Given the description of an element on the screen output the (x, y) to click on. 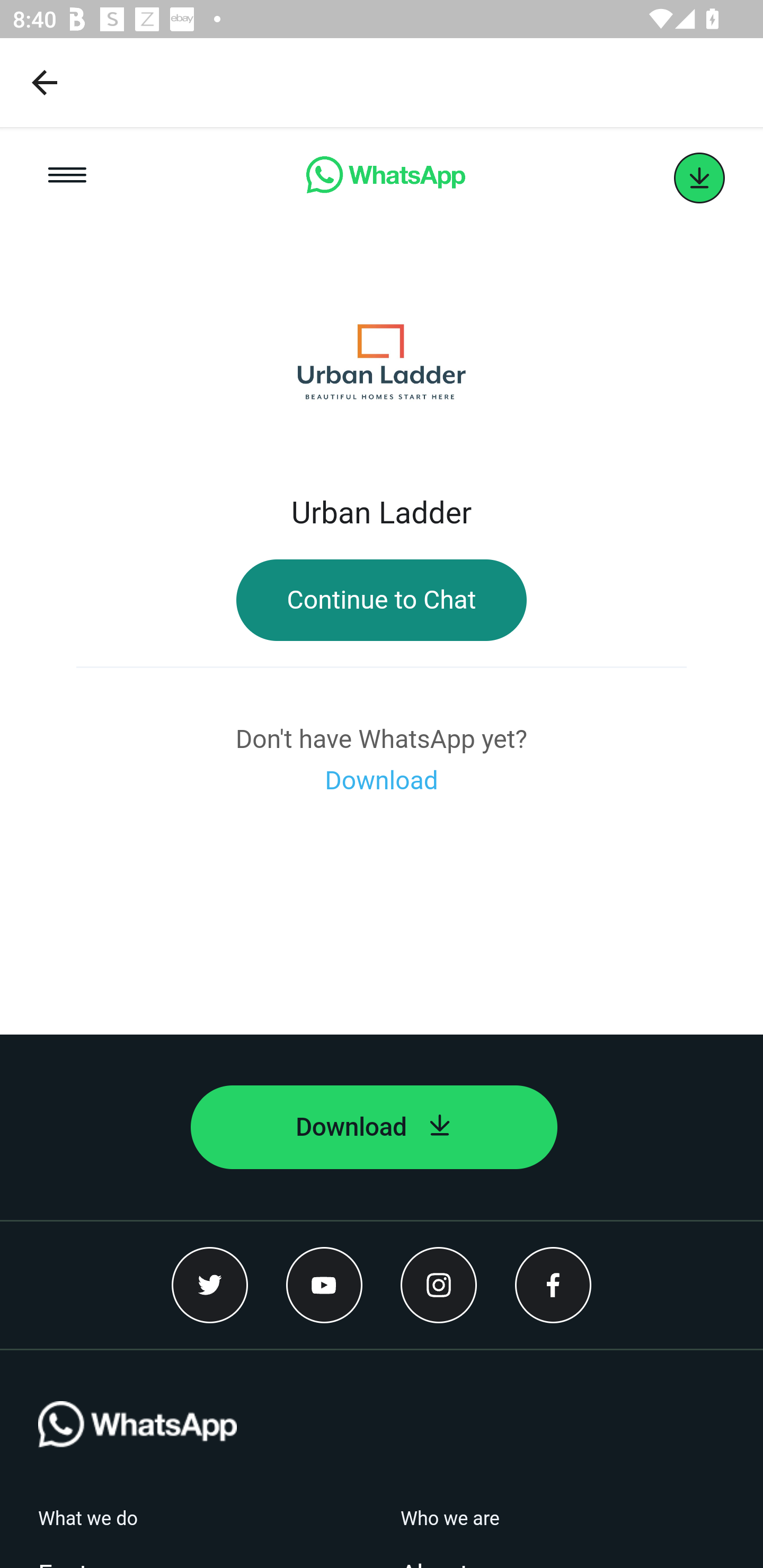
Navigate up (44, 82)
Open mobile menu (67, 177)
details?id=com (698, 177)
WhatsApp Main Page (385, 177)
Continue to Chat (381, 600)
Download (381, 780)
Download (373, 1127)
Twitter (209, 1284)
Youtube (324, 1284)
Instagram (438, 1284)
Facebook (553, 1284)
WhatsApp Main Logo (137, 1453)
